Given the description of an element on the screen output the (x, y) to click on. 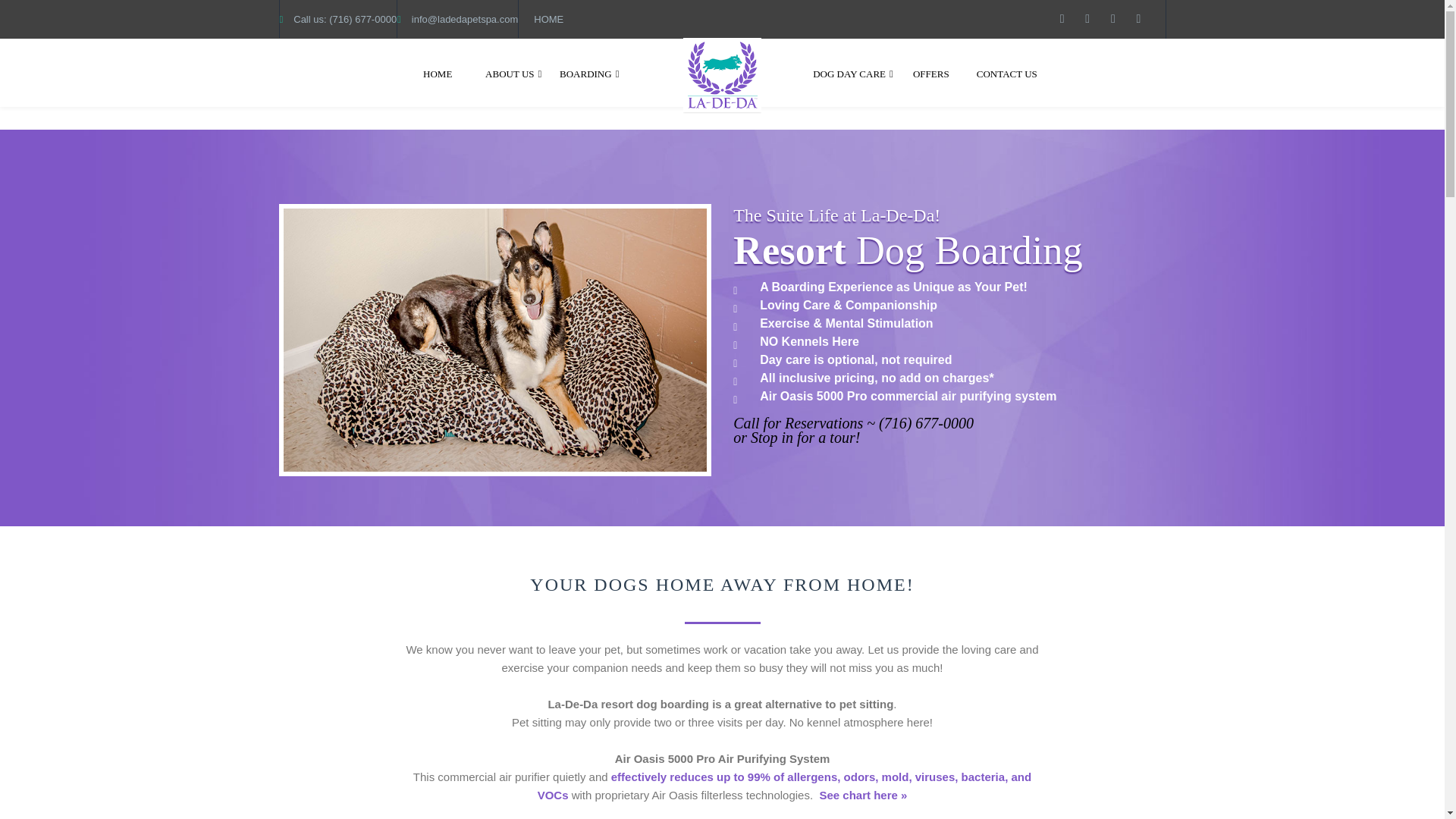
DOG DAY CARE (852, 72)
HOME (548, 19)
LaDeDa Pet Spa (721, 75)
HOME (437, 72)
boarding-topper (494, 339)
OFFERS (931, 72)
ABOUT US (513, 72)
CONTACT US (1007, 72)
BOARDING (589, 72)
